Given the description of an element on the screen output the (x, y) to click on. 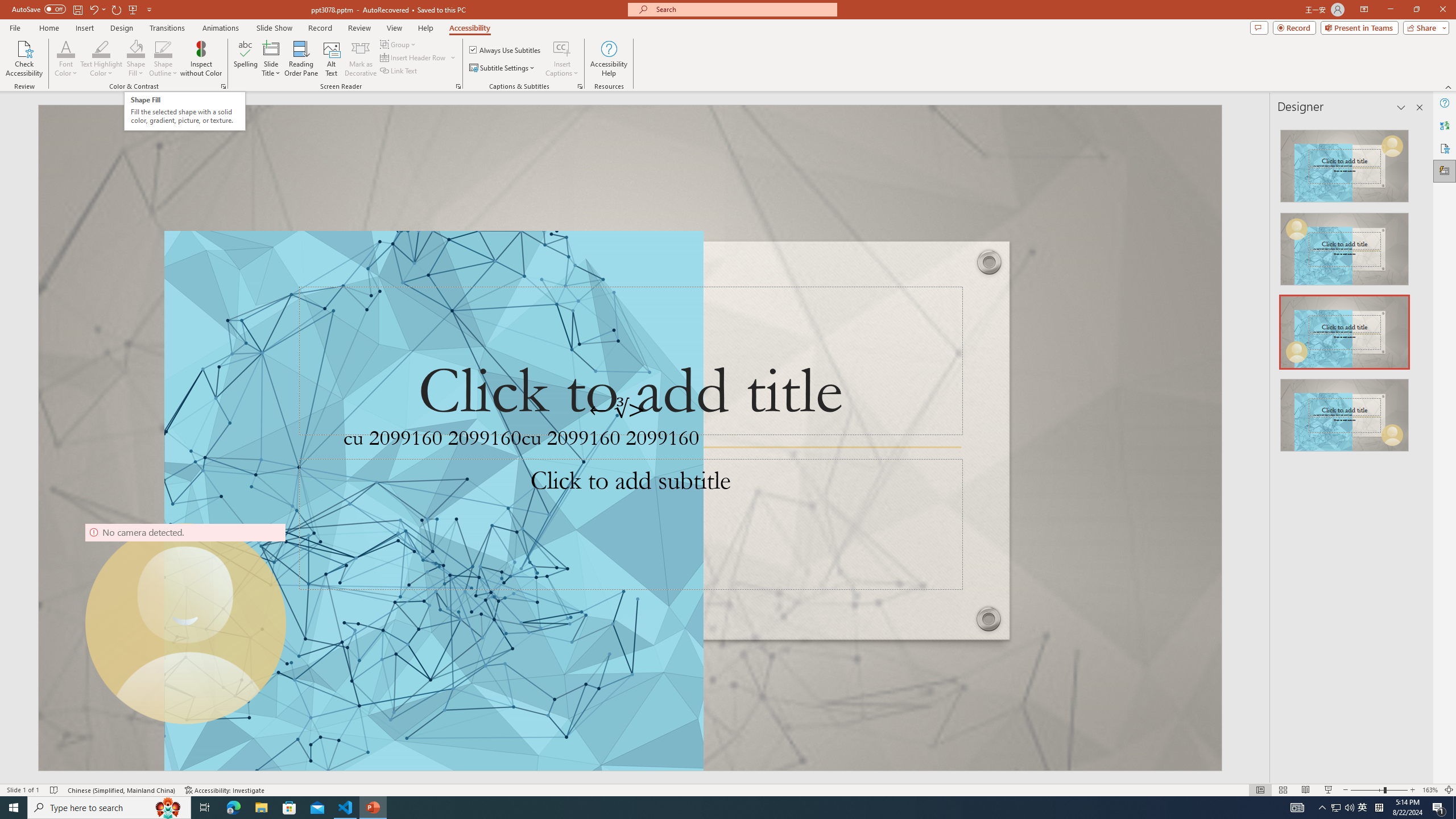
Captions & Subtitles (580, 85)
Close pane (1419, 107)
Text Highlight Color (100, 48)
Design Idea (1344, 411)
Font Color (65, 58)
Microsoft search (742, 9)
Always Use Subtitles (505, 49)
Recommended Design: Design Idea (1344, 162)
Screen Reader (458, 85)
